Given the description of an element on the screen output the (x, y) to click on. 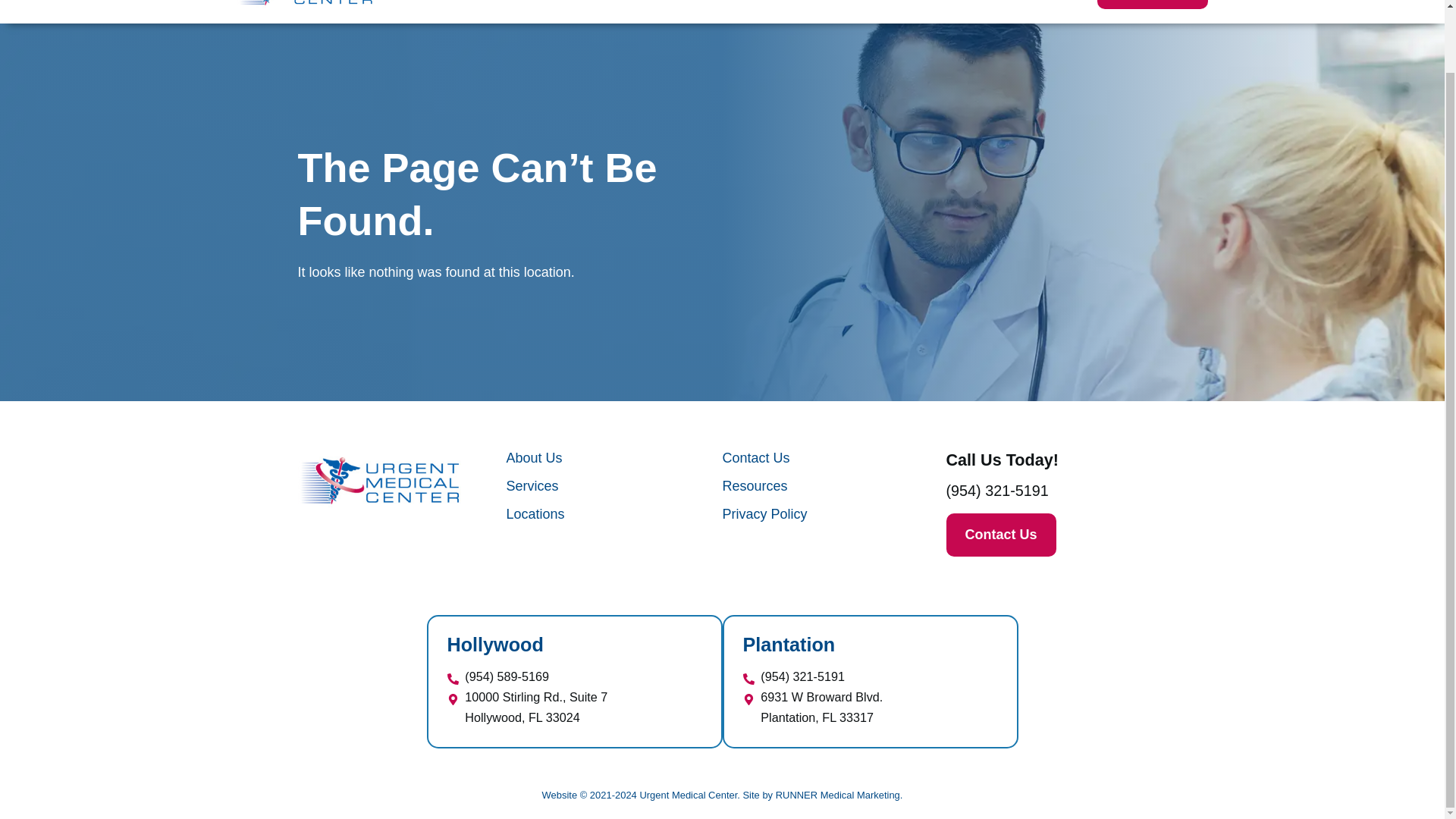
Resources (962, 2)
Services (785, 2)
About Us (1053, 2)
Locations (871, 2)
